Given the description of an element on the screen output the (x, y) to click on. 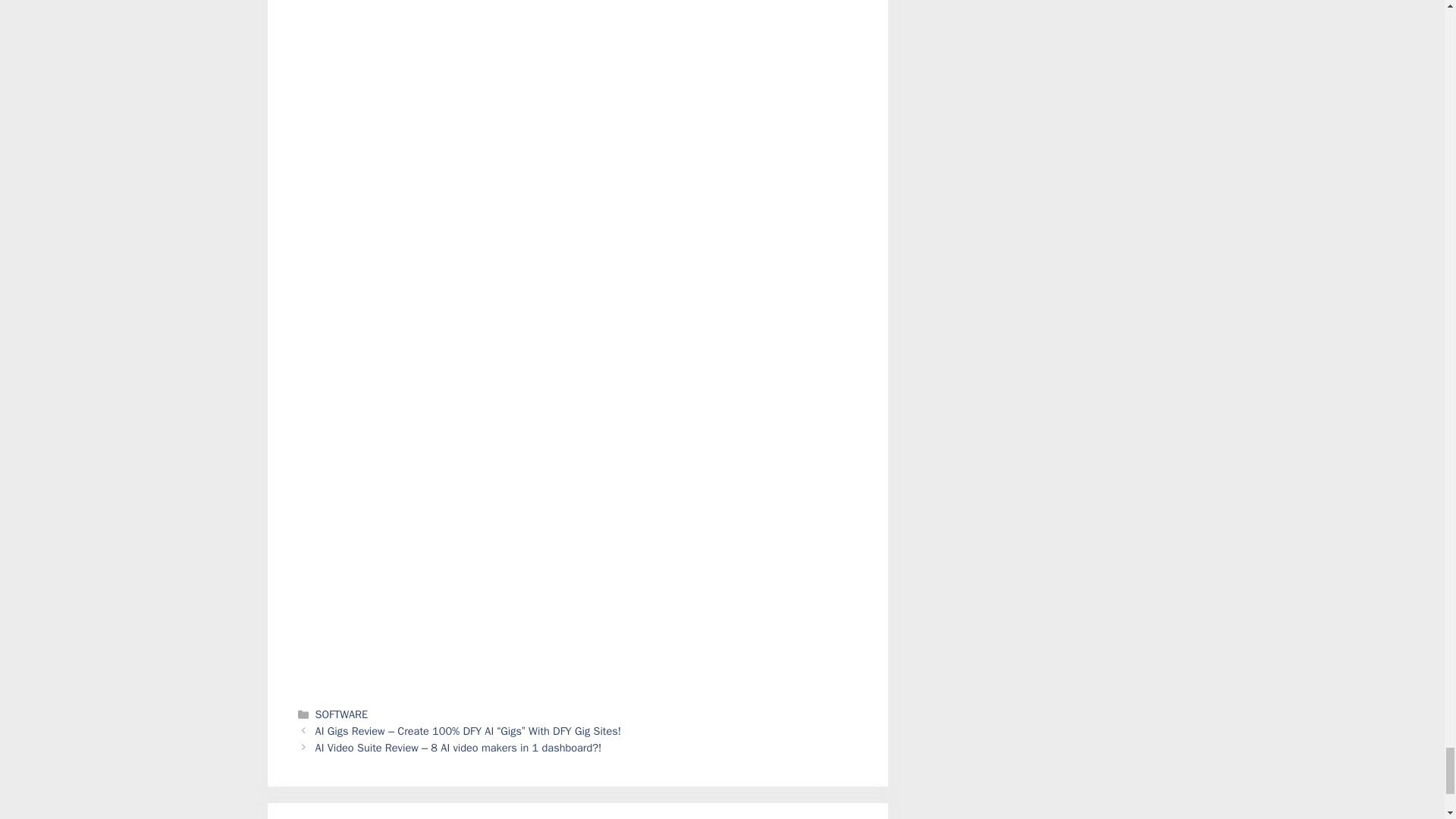
SOFTWARE (341, 714)
